Given the description of an element on the screen output the (x, y) to click on. 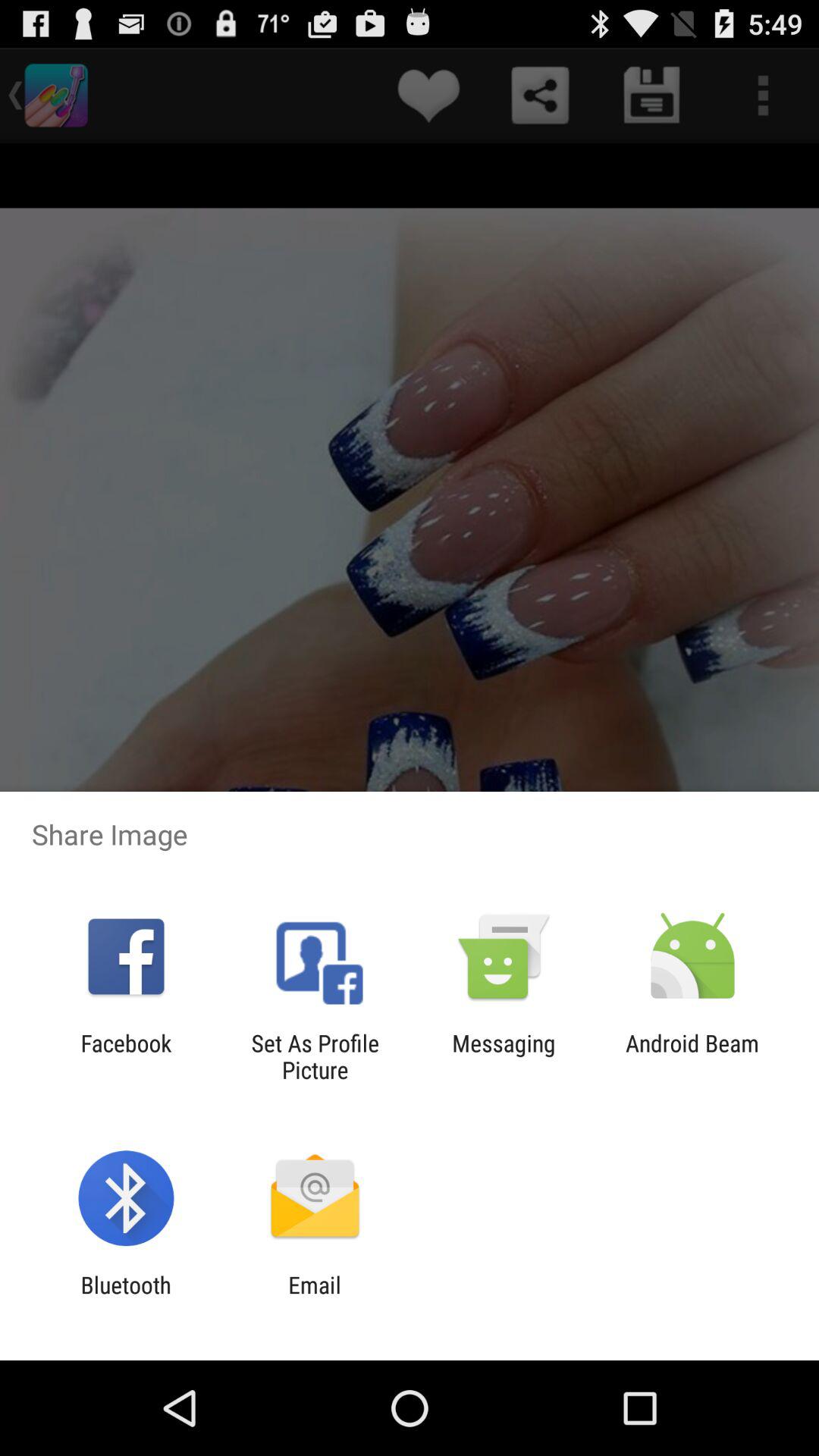
swipe until the set as profile (314, 1056)
